Given the description of an element on the screen output the (x, y) to click on. 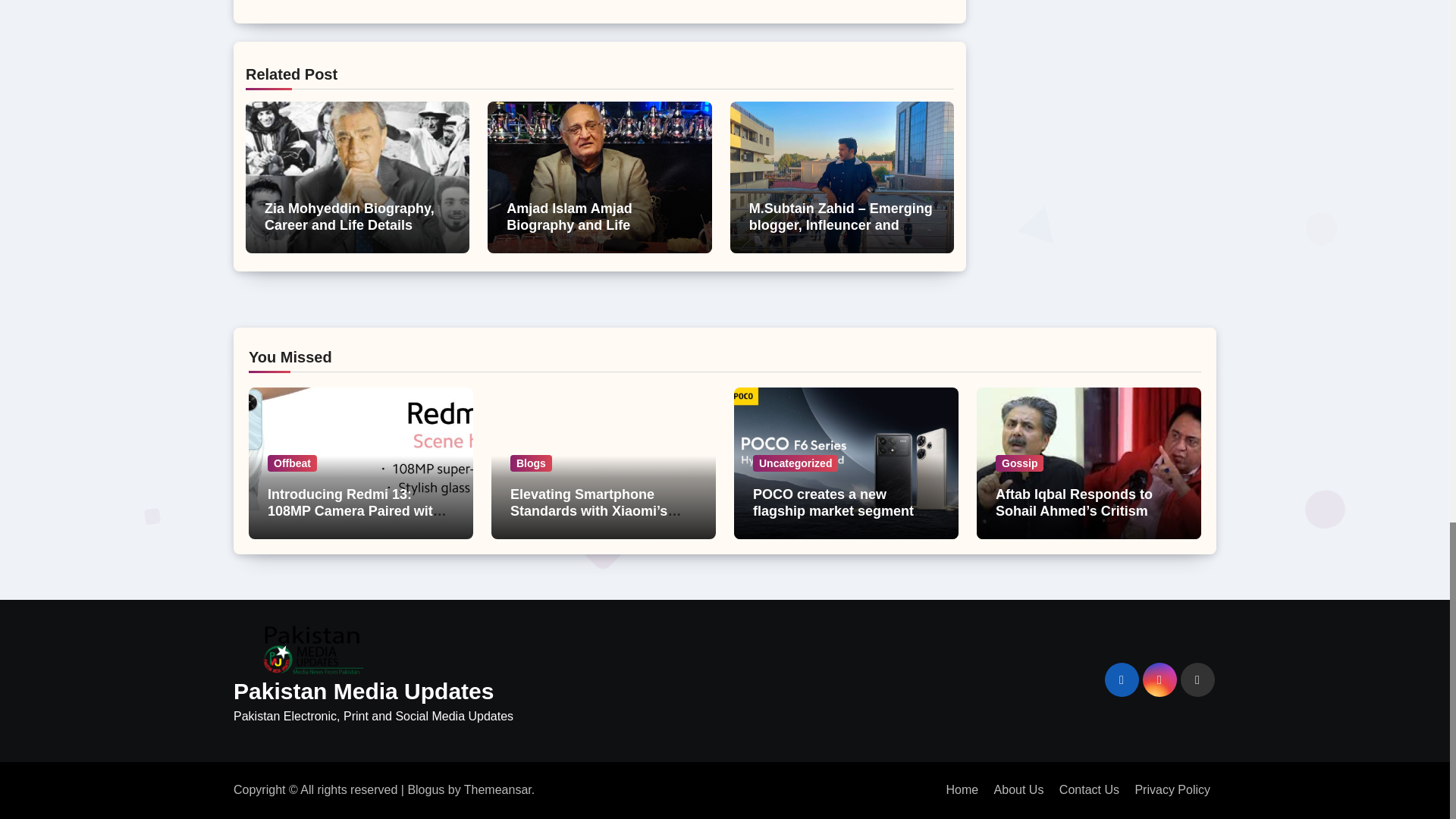
Zia Mohyeddin Biography, Career and Life Details (348, 216)
Amjad Islam Amjad Biography and Life Achievements (574, 224)
